Given the description of an element on the screen output the (x, y) to click on. 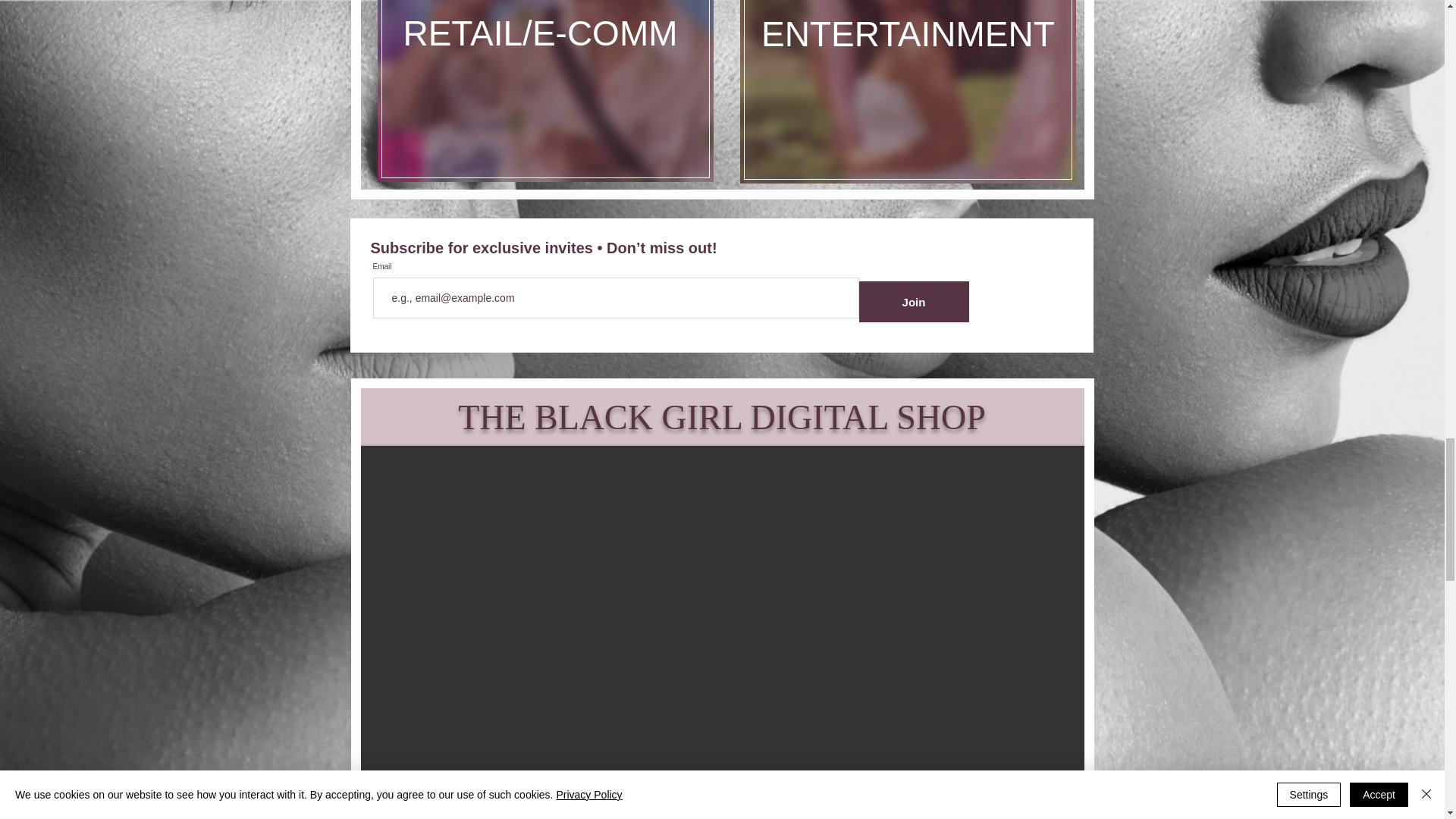
Join (913, 301)
SHOP NOW (721, 803)
